Given the description of an element on the screen output the (x, y) to click on. 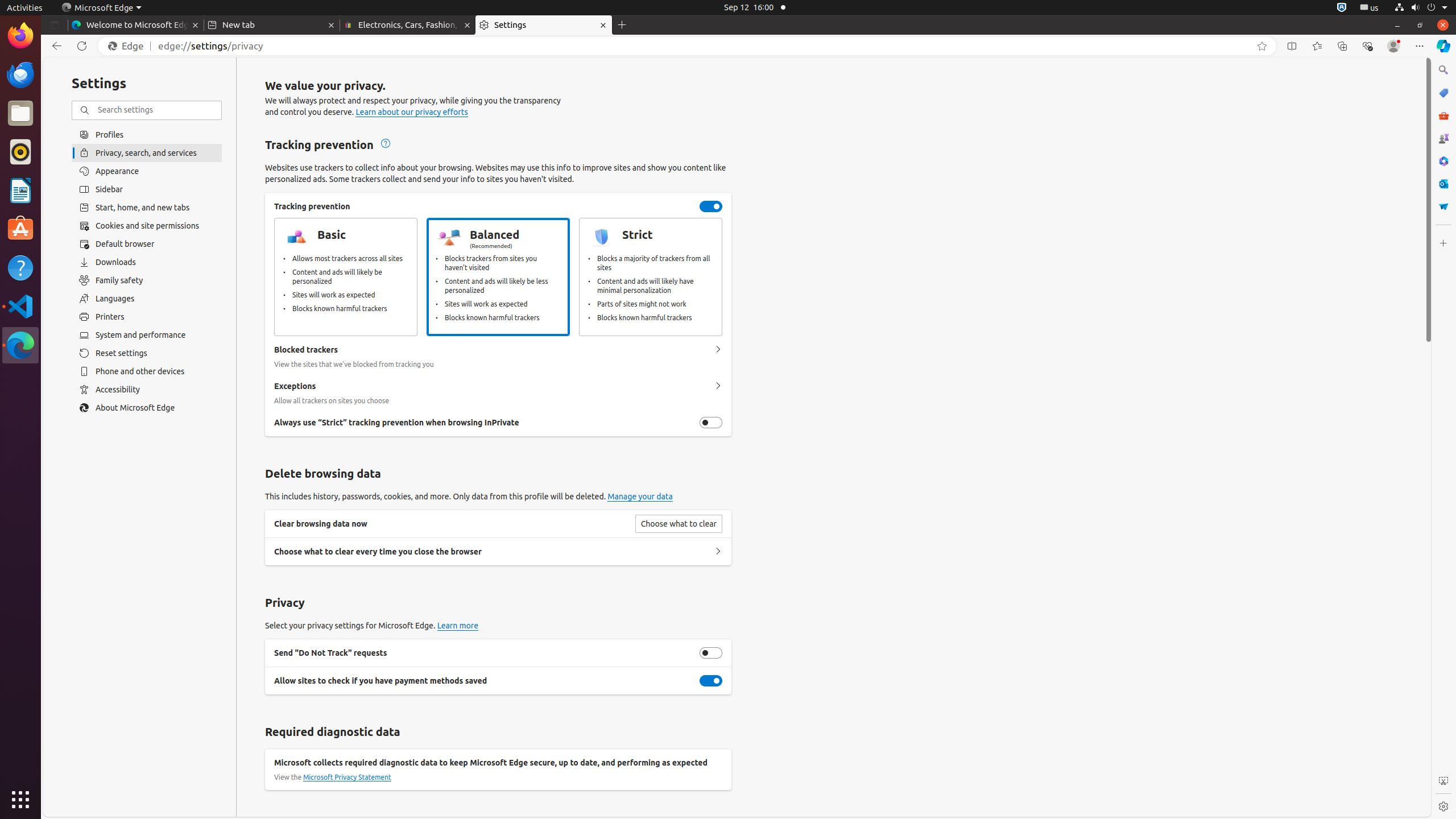
Search Element type: push-button (1443, 69)
Languages Element type: tree-item (146, 298)
Tab actions menu Element type: push-button (54, 24)
Drop Element type: push-button (1443, 206)
Microsoft Edge Element type: menu (101, 7)
